Given the description of an element on the screen output the (x, y) to click on. 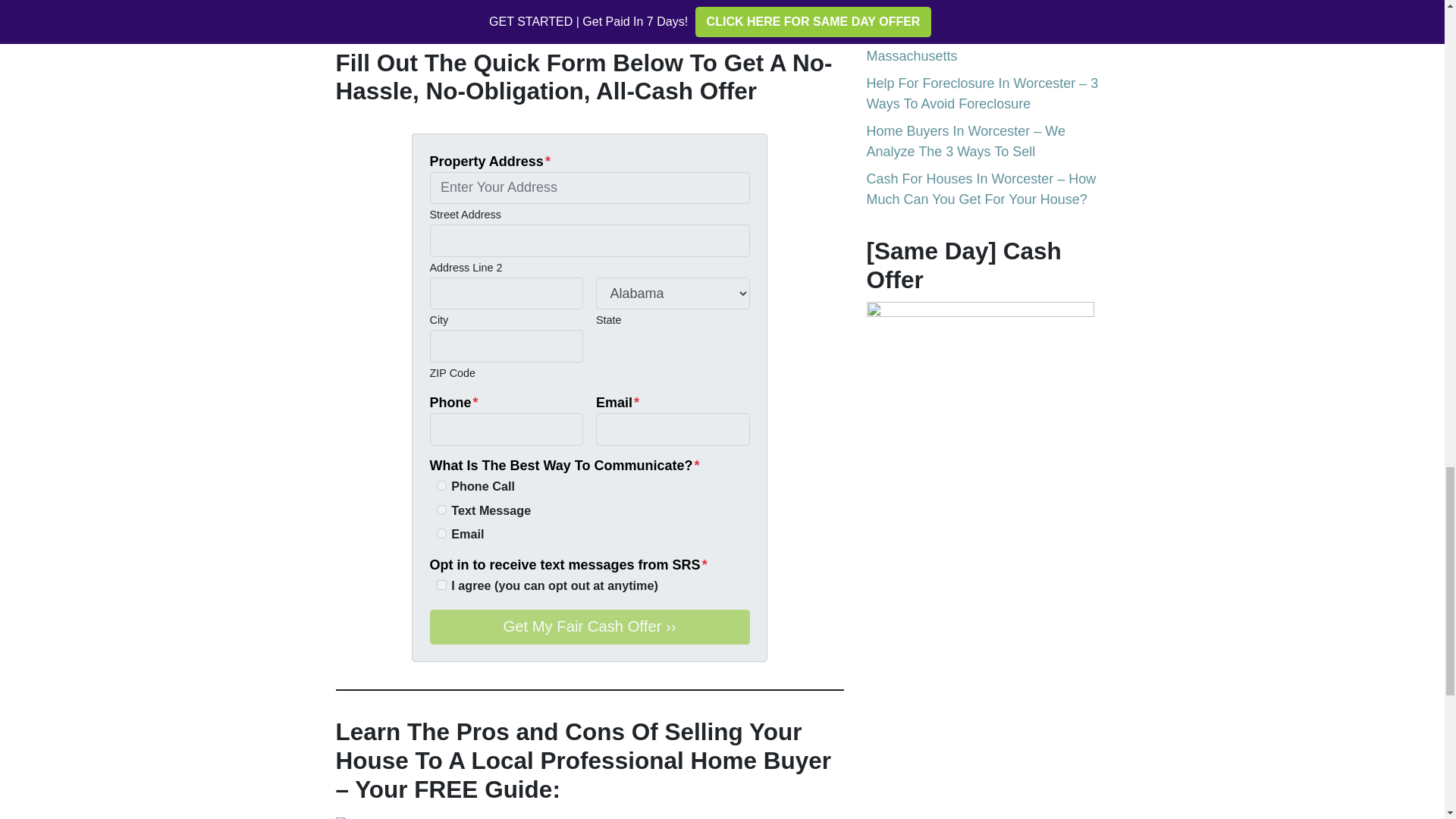
Email (441, 533)
Phone Call (441, 485)
Text Message (441, 510)
